Given the description of an element on the screen output the (x, y) to click on. 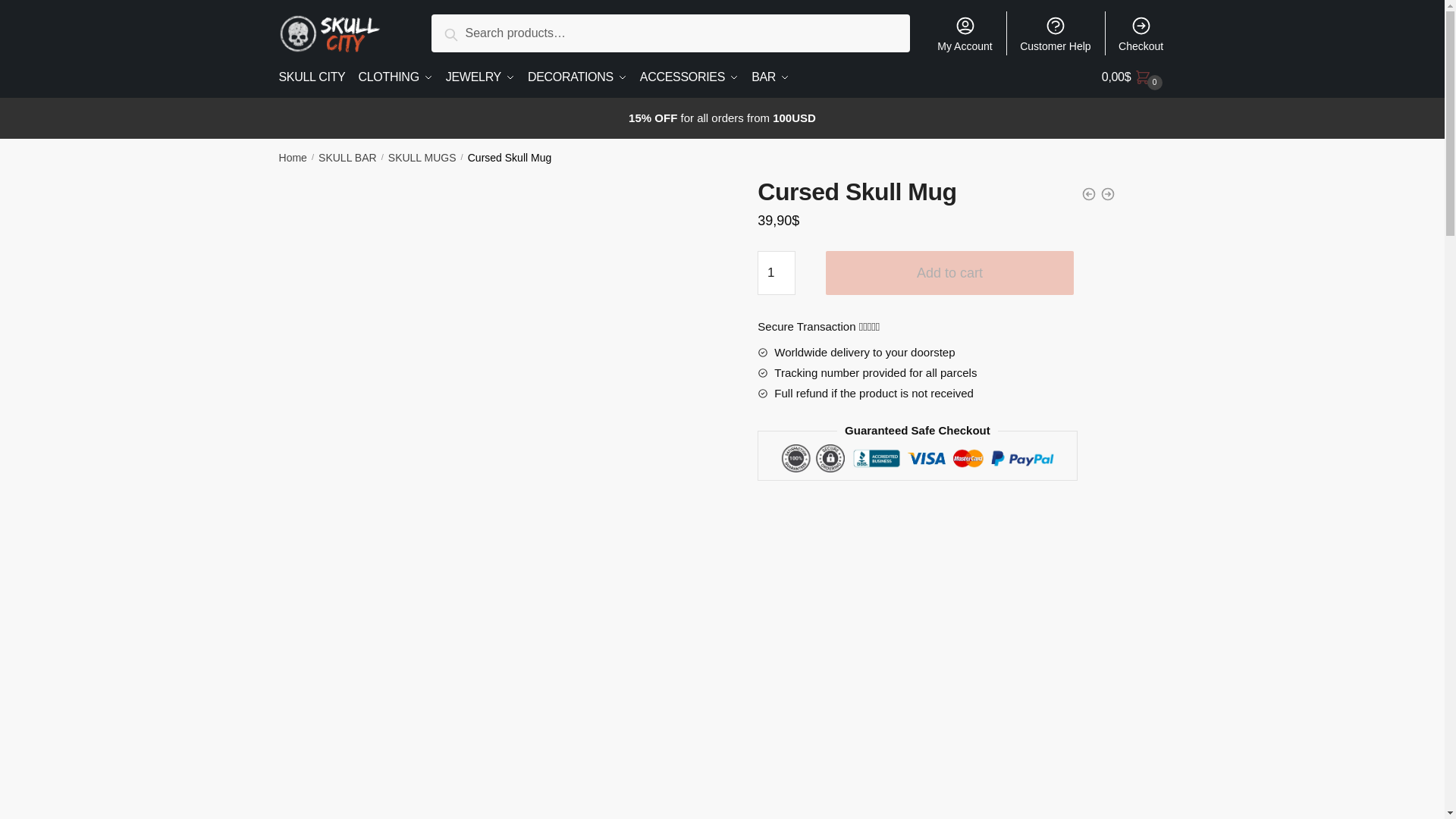
Search (467, 31)
SKULL CITY (315, 76)
Skip to content (40, 9)
JEWELRY (480, 76)
1 (775, 272)
DECORATIONS (577, 76)
View your shopping cart (1134, 76)
My Account (964, 33)
Skip to navigation (48, 9)
CLOTHING (395, 76)
Customer Help (1055, 33)
Checkout (1141, 33)
